Given the description of an element on the screen output the (x, y) to click on. 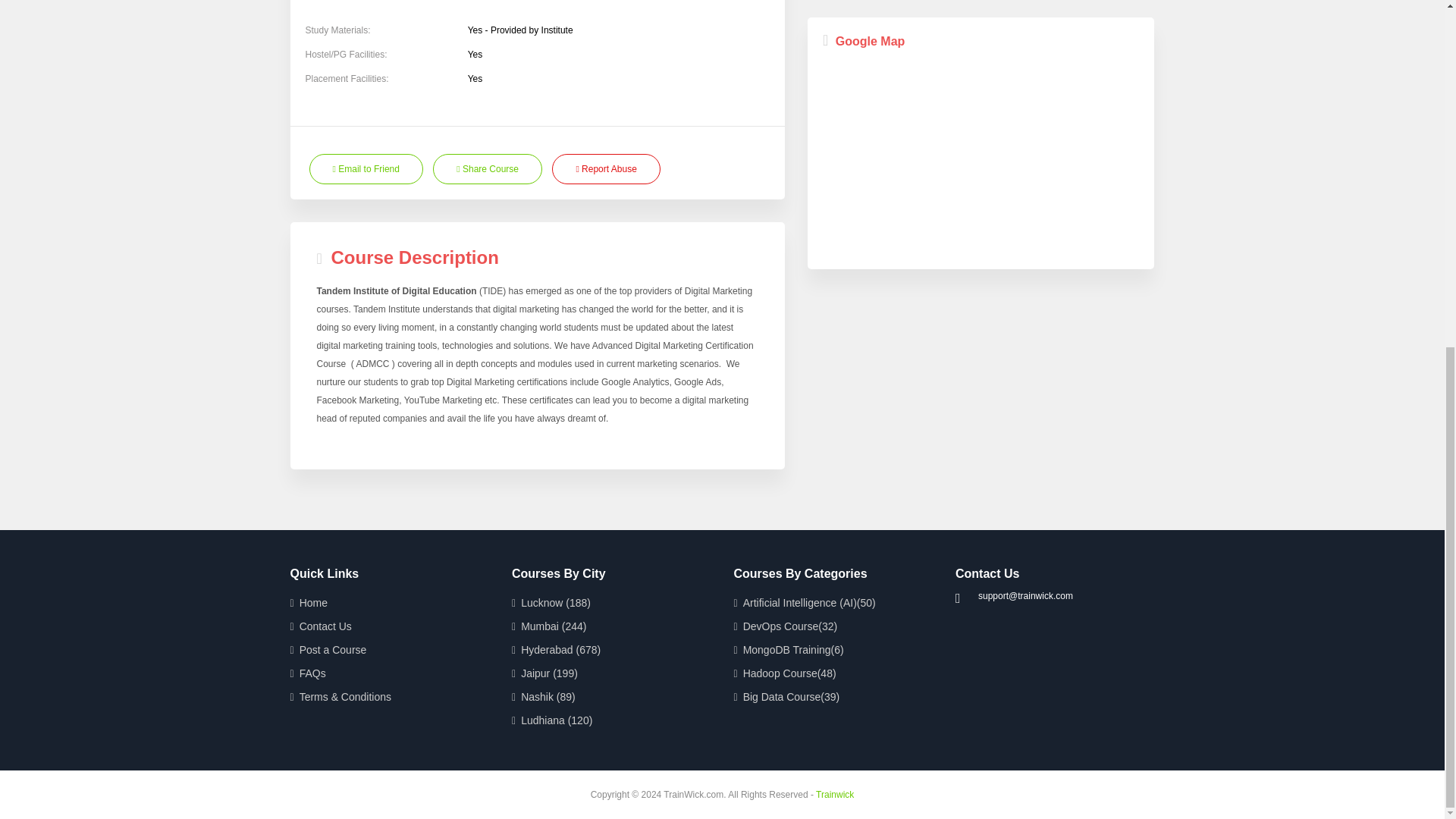
Nashik (611, 697)
Mumbai (611, 626)
Lucknow (611, 603)
Hyderabad (611, 649)
Email to Friend (365, 168)
Jaipur (611, 673)
Share Course (486, 168)
Report Abuse (605, 168)
Ludhiana (611, 720)
